Given the description of an element on the screen output the (x, y) to click on. 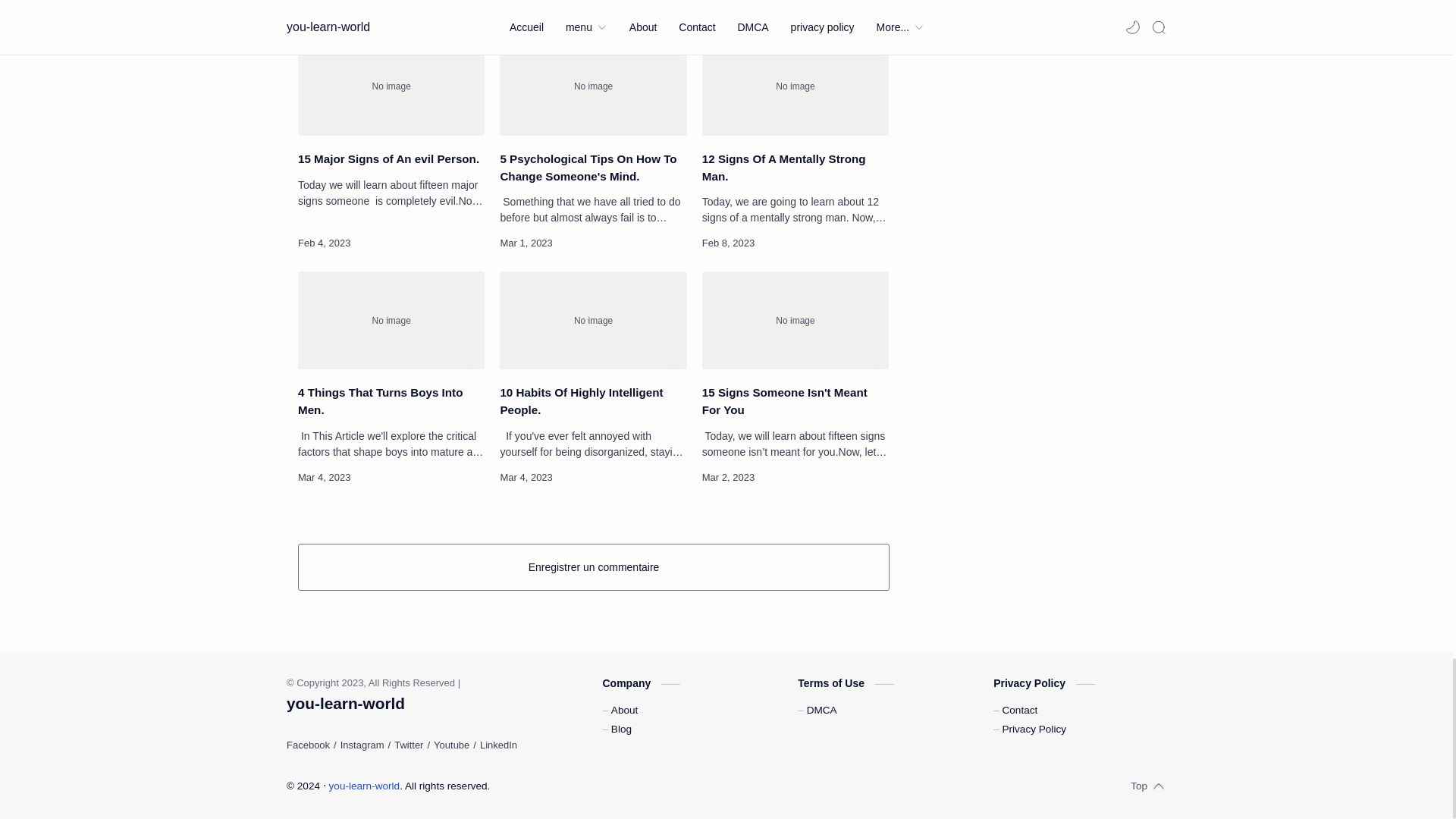
10 Habits Of Highly Intelligent People.  (592, 320)
5 Psychological Tips On How To Change Someone's Mind. (592, 86)
4 Things That Turns Boys Into Men. (391, 320)
15 Signs Someone Isn't Meant For You (794, 320)
12  Signs Of A Mentally Strong Man. (794, 86)
15 Major Signs of An evil Person. (391, 86)
